Given the description of an element on the screen output the (x, y) to click on. 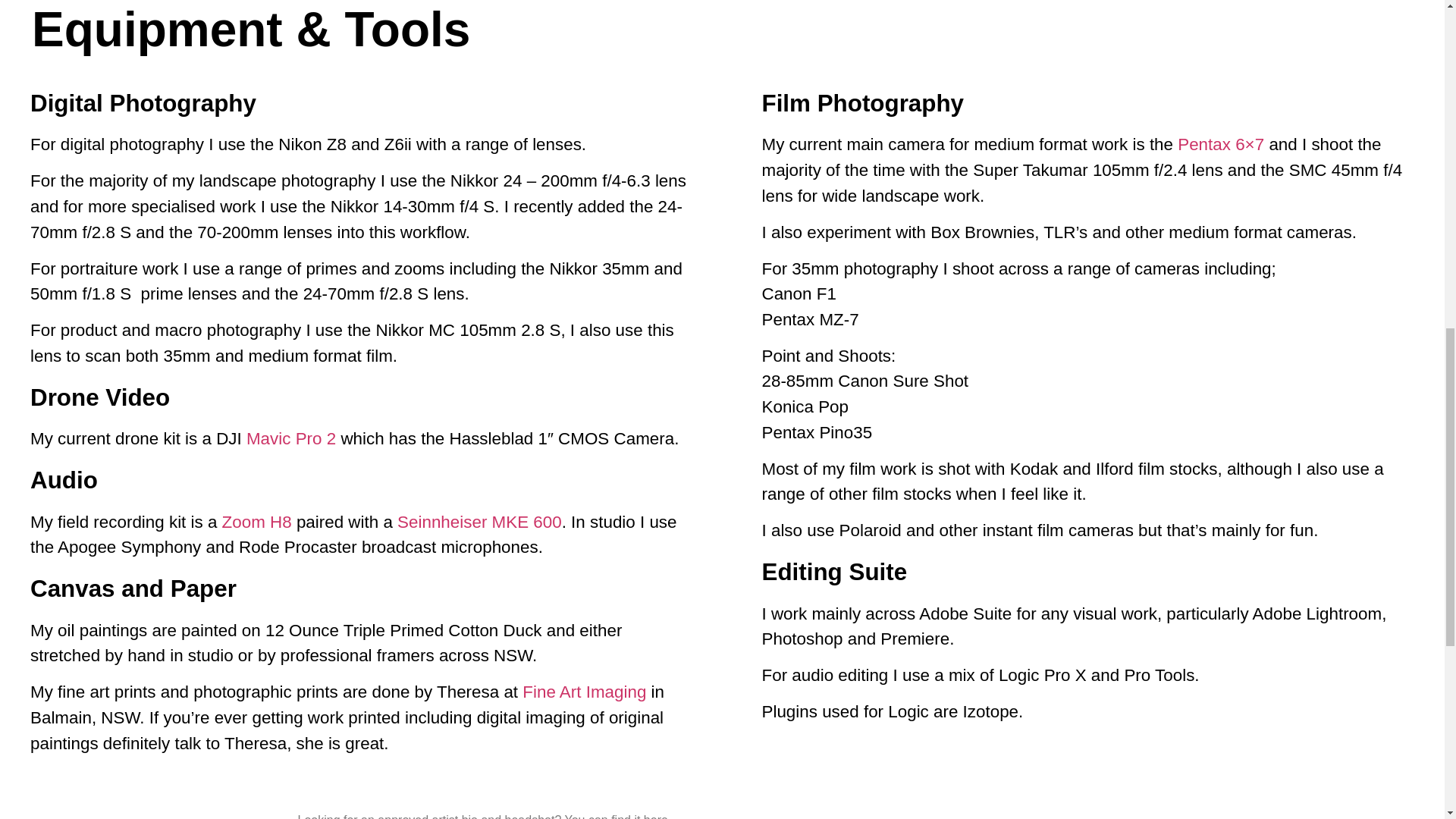
Fine Art Imaging (584, 691)
Seinnheiser MKE 600 (479, 521)
Zoom H8 (257, 521)
Mavic Pro 2 (291, 438)
